Given the description of an element on the screen output the (x, y) to click on. 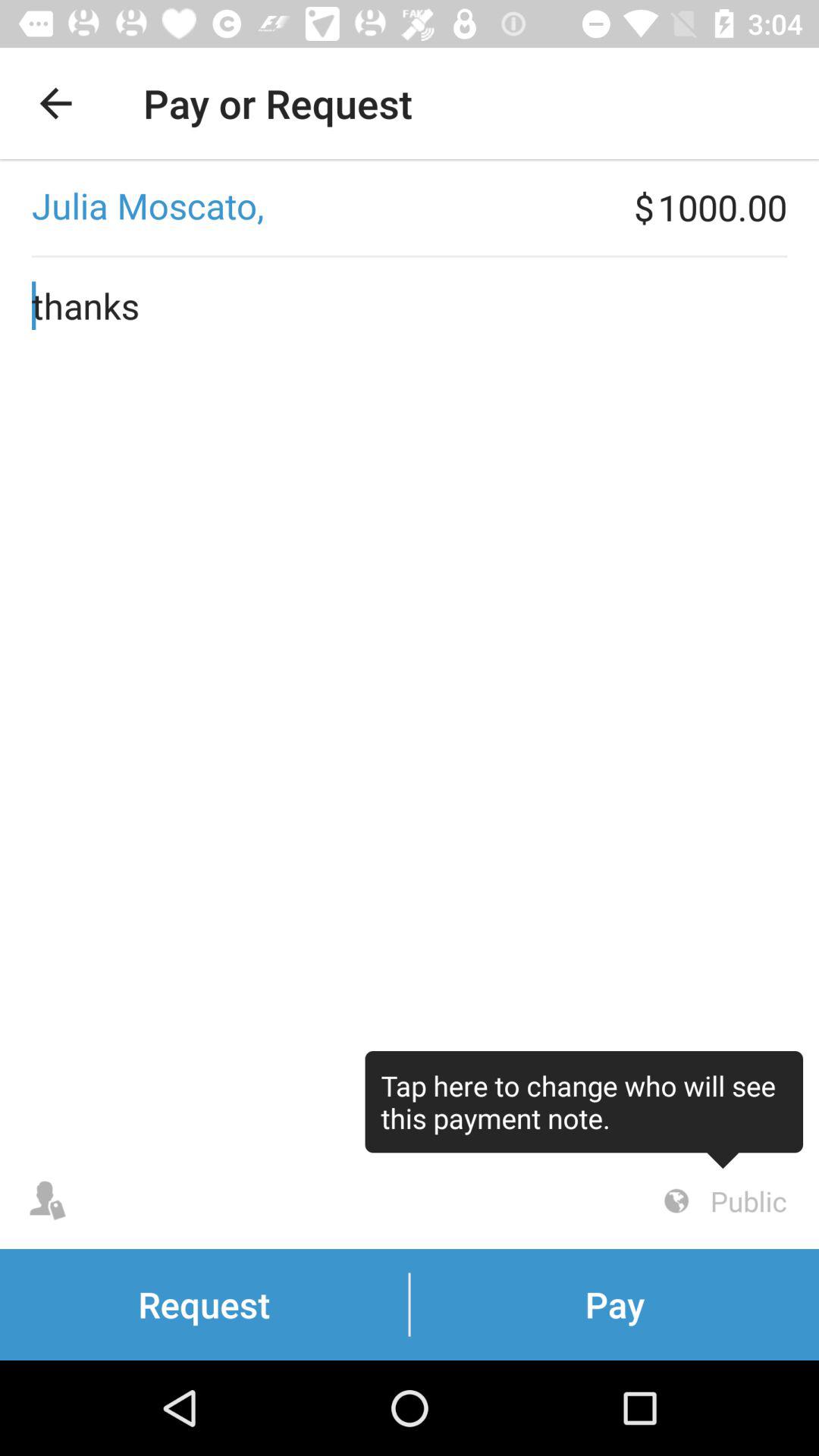
turn on the public (722, 1200)
